Given the description of an element on the screen output the (x, y) to click on. 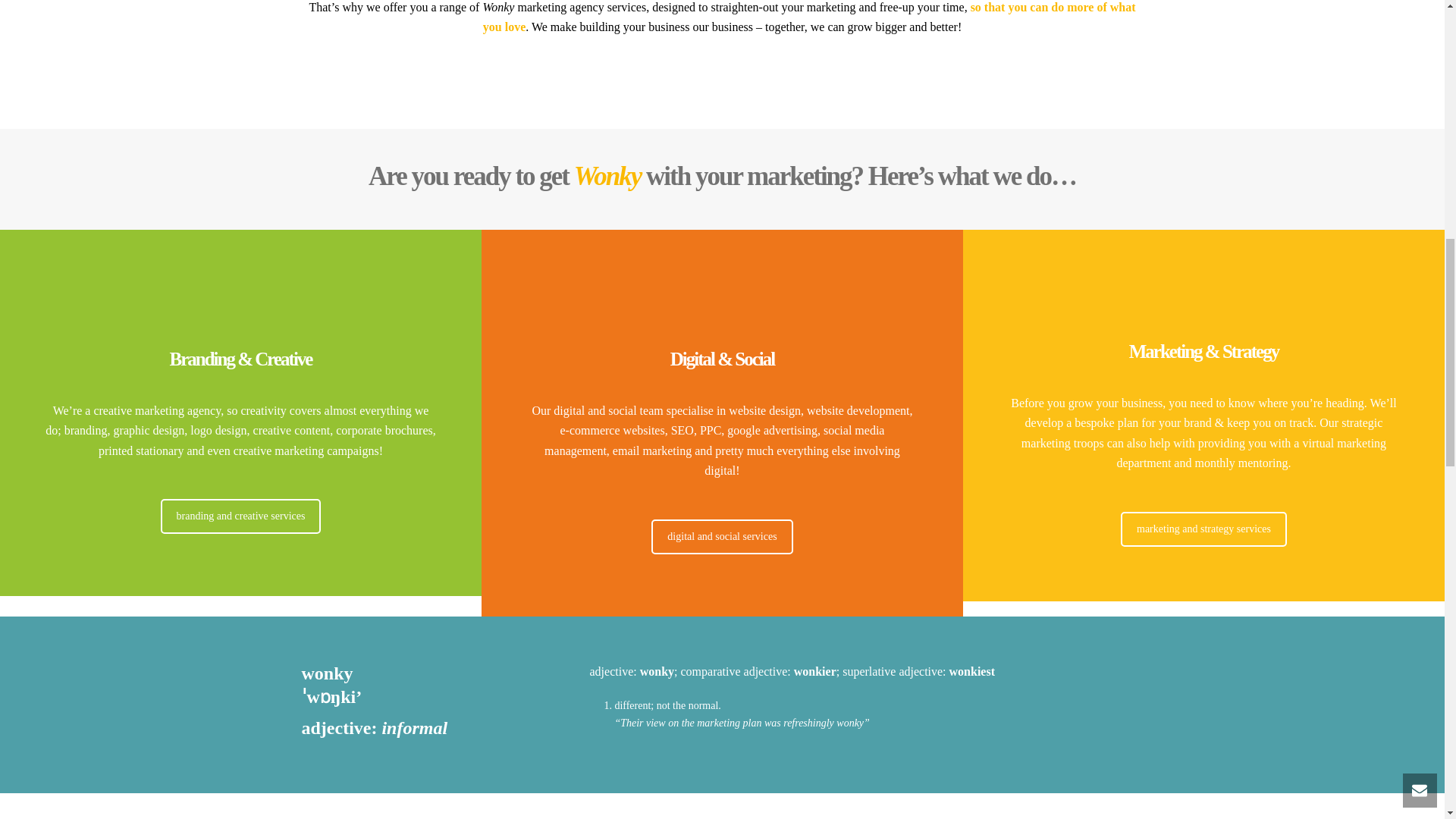
branding and creative services (240, 515)
digital and social services (721, 536)
marketing and strategy services (1204, 529)
